Given the description of an element on the screen output the (x, y) to click on. 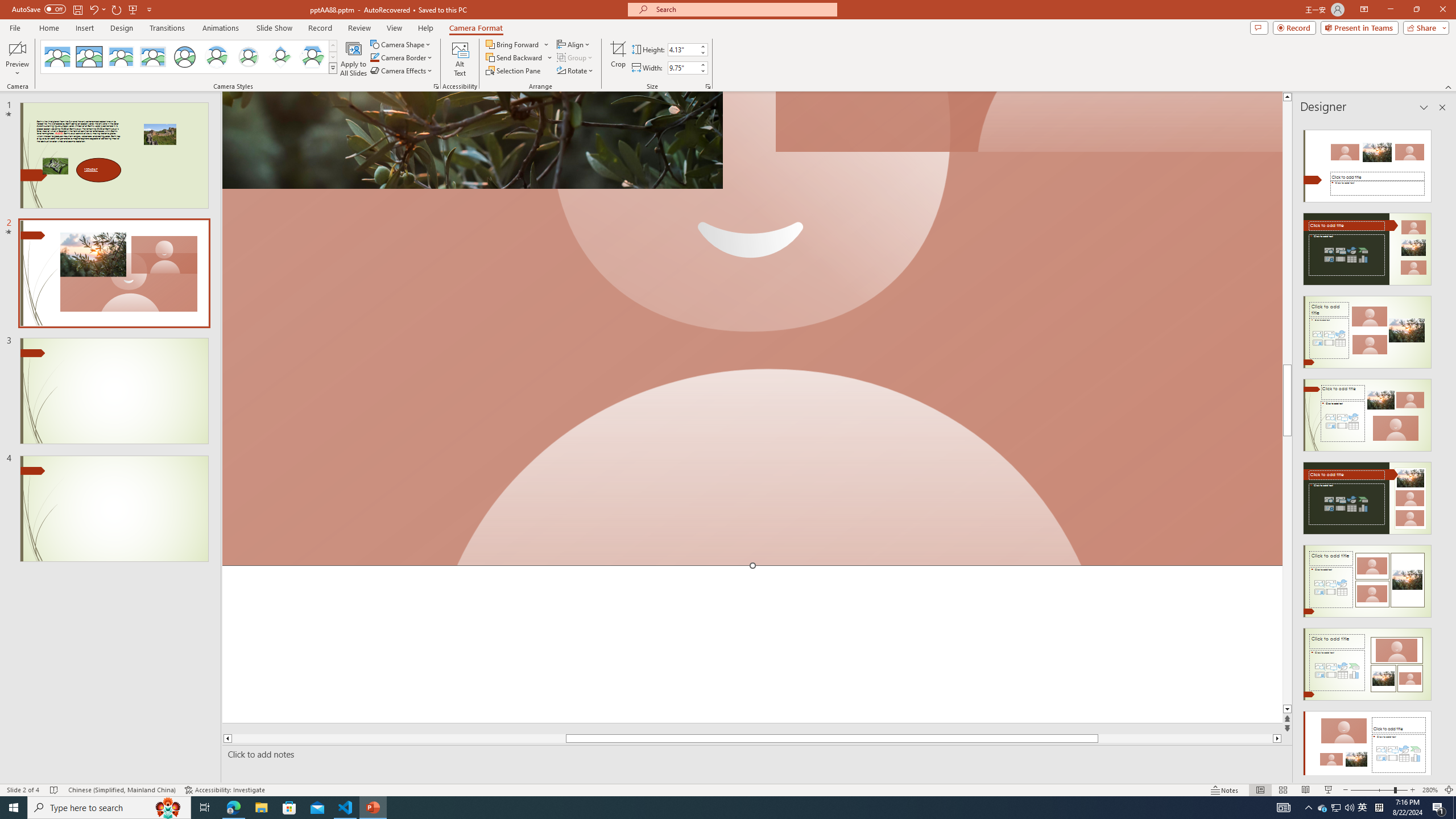
Align (574, 44)
Send Backward (518, 56)
Rotate (575, 69)
